Given the description of an element on the screen output the (x, y) to click on. 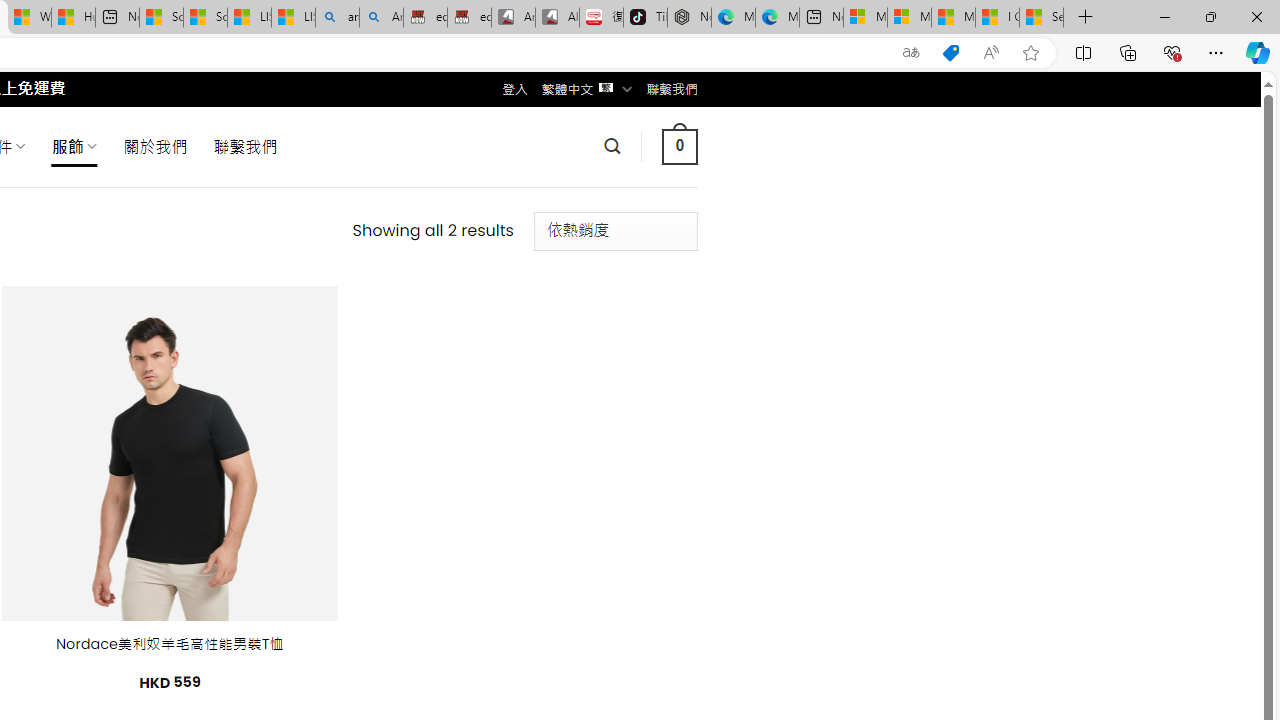
  0   (679, 146)
 0  (679, 146)
